Given the description of an element on the screen output the (x, y) to click on. 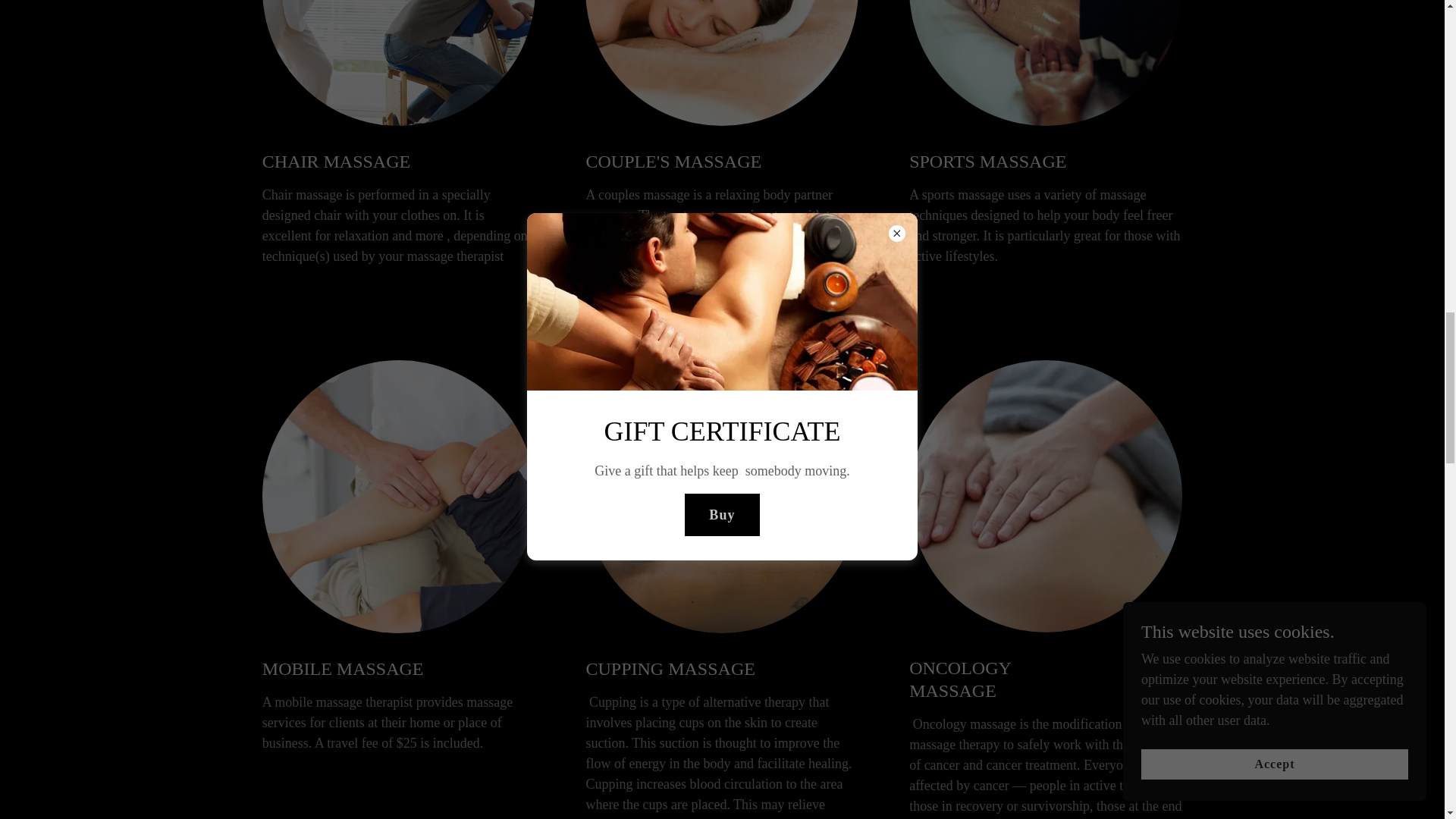
MOBILE MASSAGE (357, 668)
CUPPING MASSAGE (680, 668)
CHAIR MASSAGE (357, 160)
ONCOLOGY MASSAGE (1004, 678)
COUPLE'S MASSAGE (680, 160)
